Given the description of an element on the screen output the (x, y) to click on. 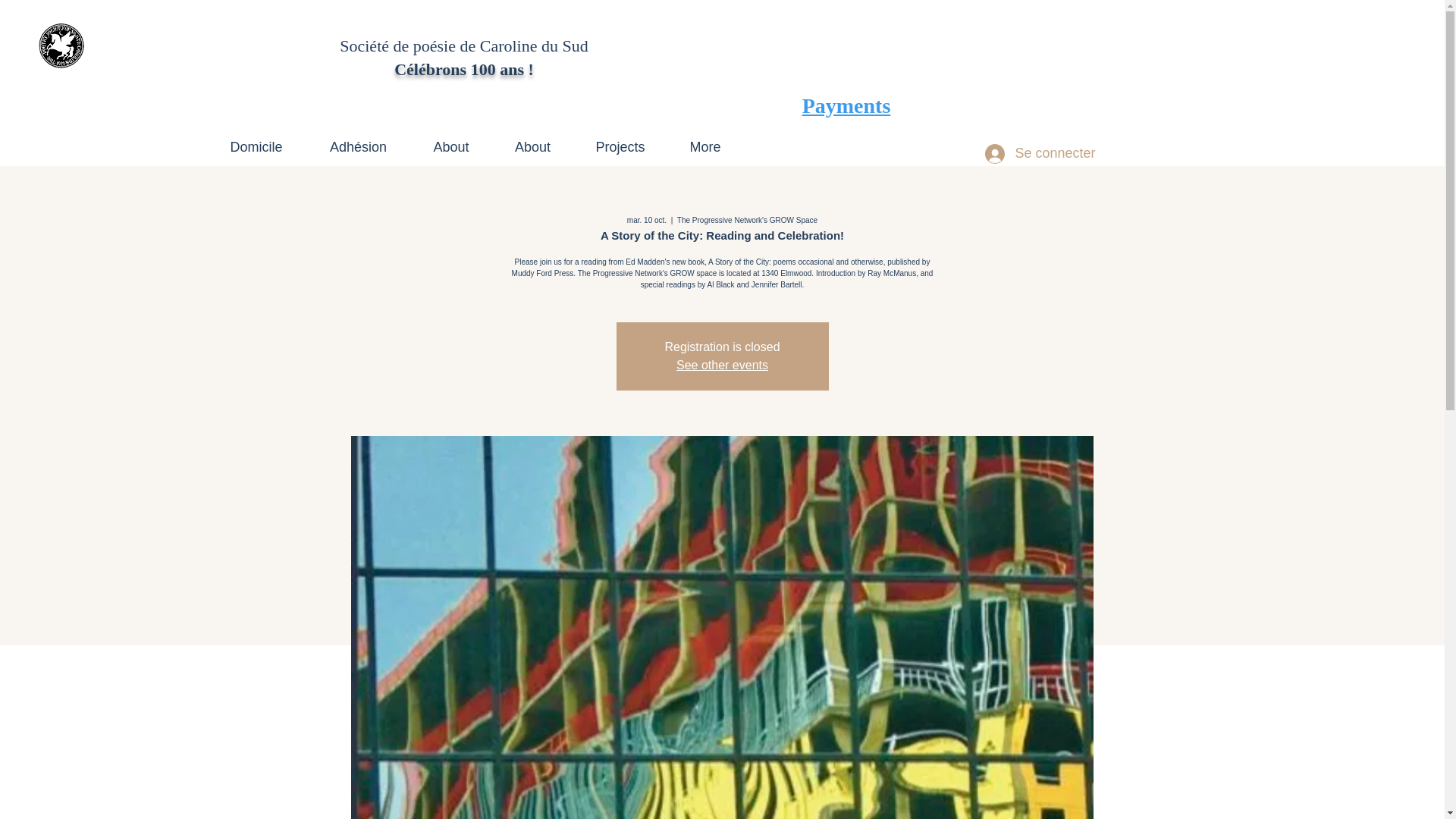
Projects (619, 139)
About (532, 139)
Payments (846, 105)
Domicile (255, 139)
About (451, 139)
